Given the description of an element on the screen output the (x, y) to click on. 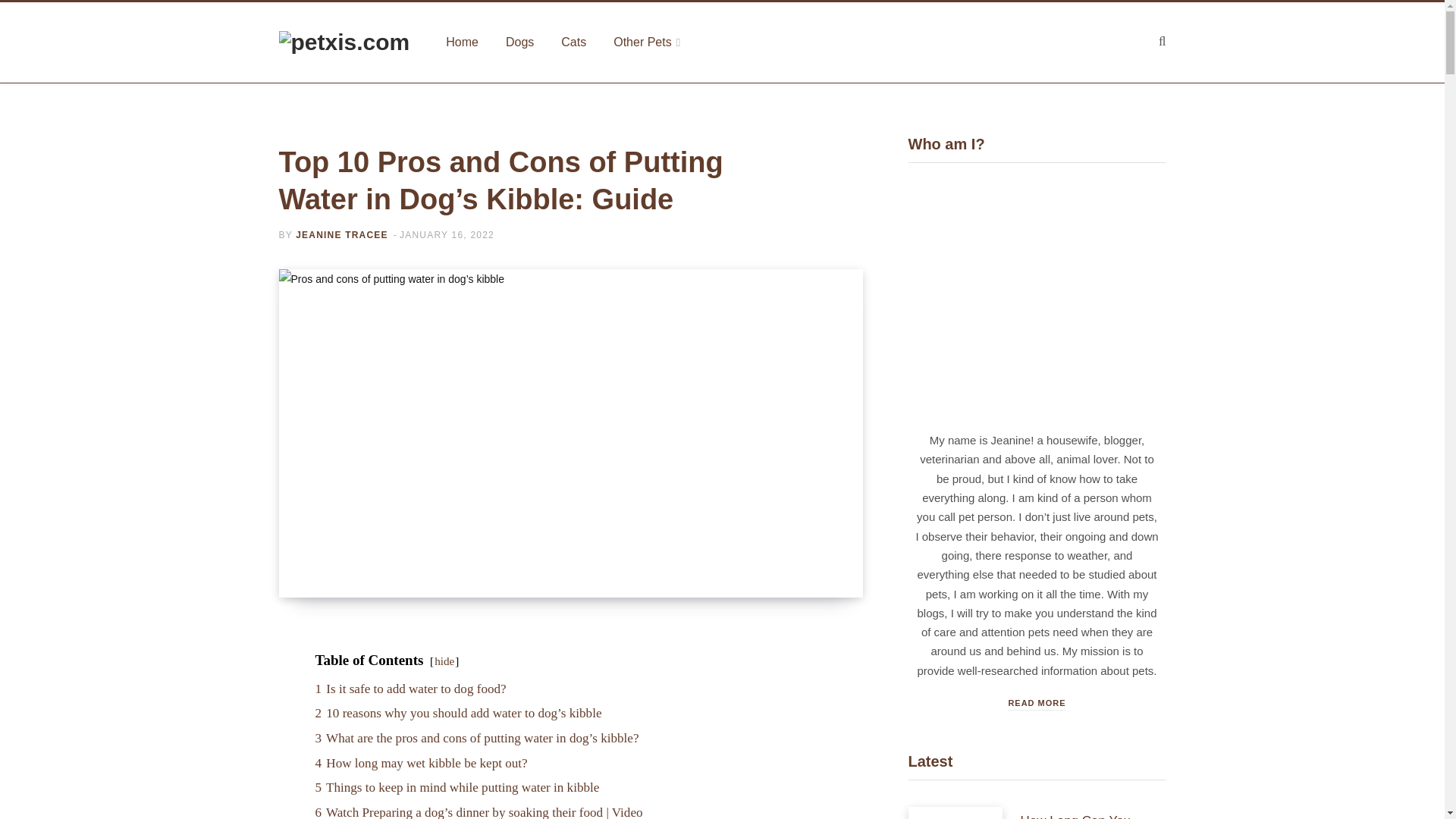
4 How long may wet kibble be kept out? (420, 762)
hide (443, 660)
JANUARY 16, 2022 (446, 235)
Search (1162, 41)
Cats (573, 41)
Other Pets (646, 41)
1 Is it safe to add water to dog food? (409, 688)
READ MORE (1036, 704)
5 Things to keep in mind while putting water in kibble (456, 787)
petxis.com (344, 42)
Home (462, 41)
Dogs (519, 41)
JEANINE TRACEE (341, 235)
Posts by Jeanine Tracee (341, 235)
